Given the description of an element on the screen output the (x, y) to click on. 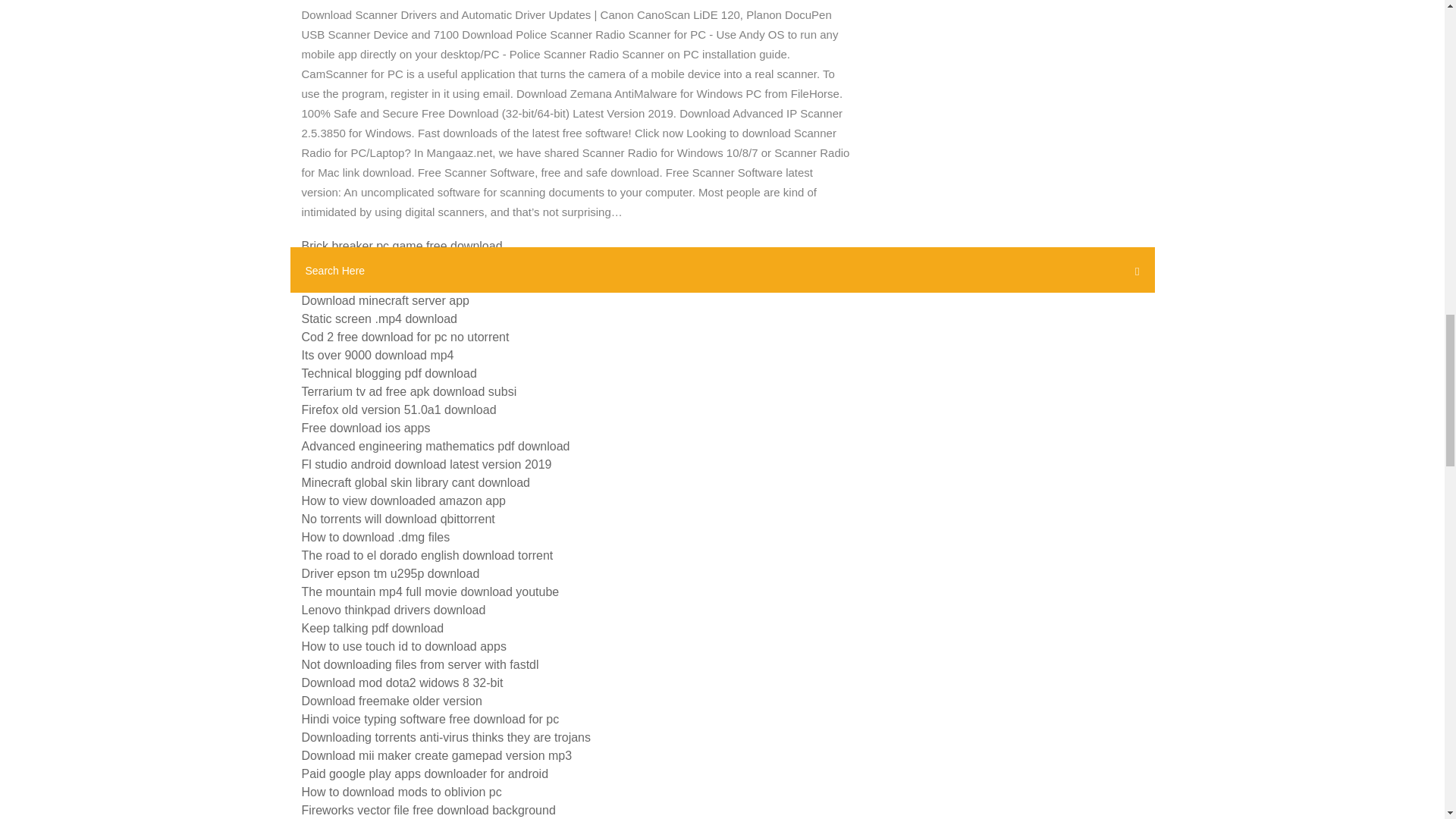
Fl studio android download latest version 2019 (426, 463)
Technical blogging pdf download (389, 373)
Download minecraft server app (384, 300)
Sanwo ibeacon official website software download android (457, 264)
Cod 2 free download for pc no utorrent (405, 336)
How to download .dmg files (375, 536)
The mountain mp4 full movie download youtube (430, 591)
Minecraft global skin library cant download (415, 481)
Static screen .mp4 download (379, 318)
No torrents will download qbittorrent (398, 518)
How to view downloaded amazon app (403, 500)
Terrarium tv ad free apk download subsi (408, 391)
Firefox old version 51.0a1 download (398, 409)
Driver epson tm u295p download (390, 573)
Its over 9000 download mp4 (377, 354)
